Given the description of an element on the screen output the (x, y) to click on. 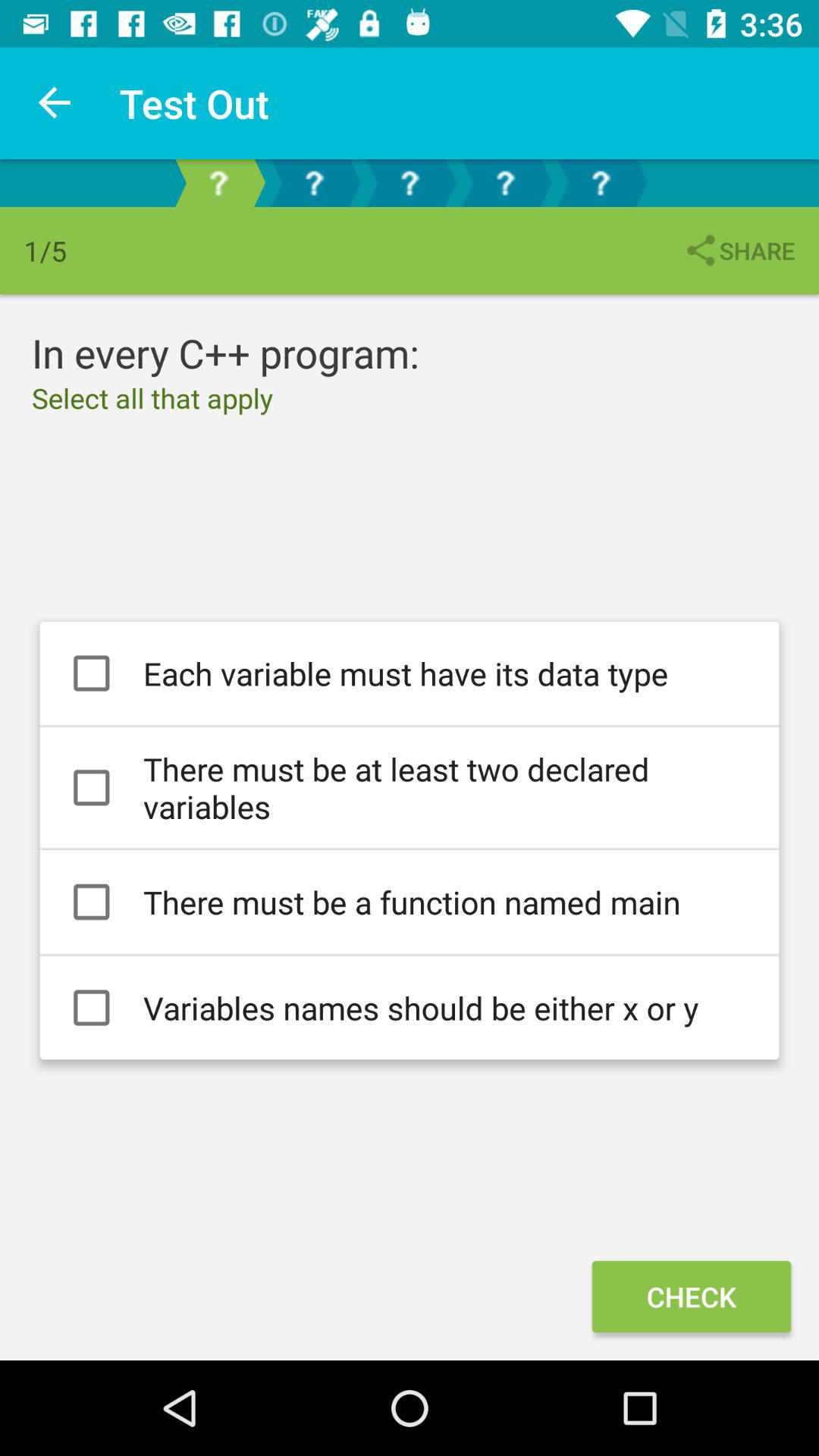
tap icon to the left of test out icon (55, 103)
